Given the description of an element on the screen output the (x, y) to click on. 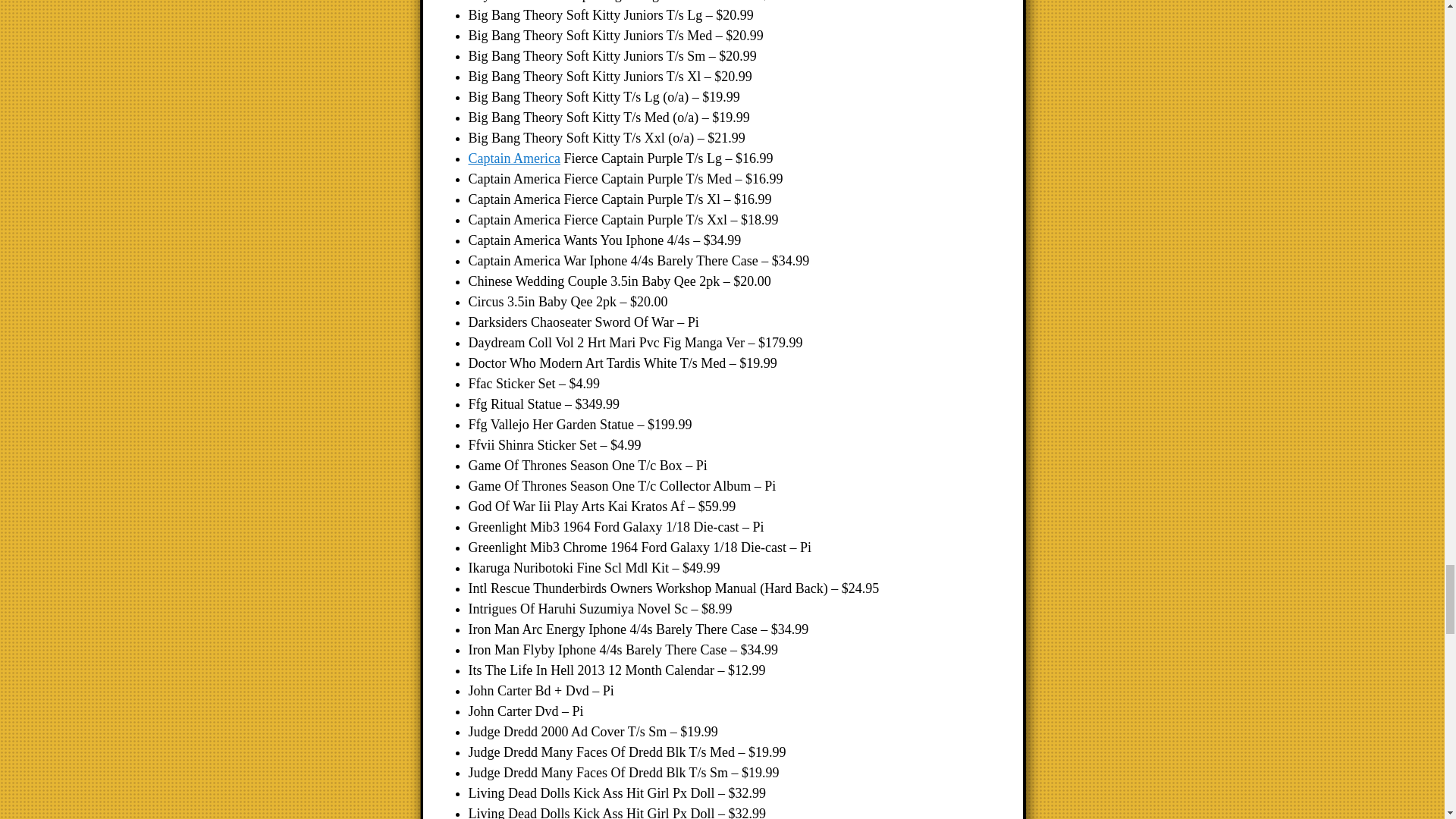
Captain America movie (514, 158)
Captain America (514, 158)
